Given the description of an element on the screen output the (x, y) to click on. 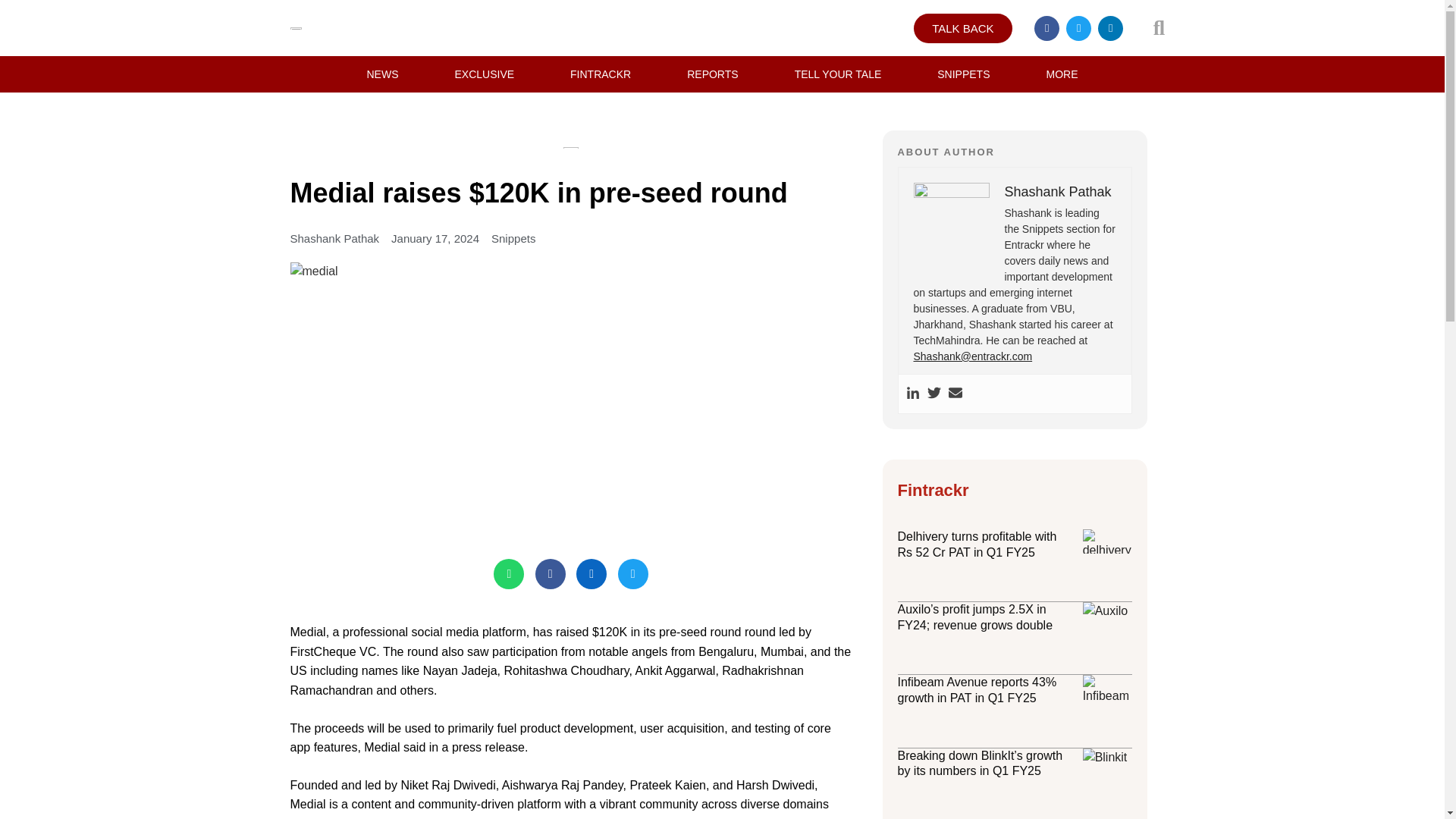
NEWS (381, 74)
EXCLUSIVE (483, 74)
FINTRACKR (600, 74)
TALK BACK (962, 28)
TELL YOUR TALE (838, 74)
SNIPPETS (962, 74)
REPORTS (712, 74)
MORE (1061, 74)
